Given the description of an element on the screen output the (x, y) to click on. 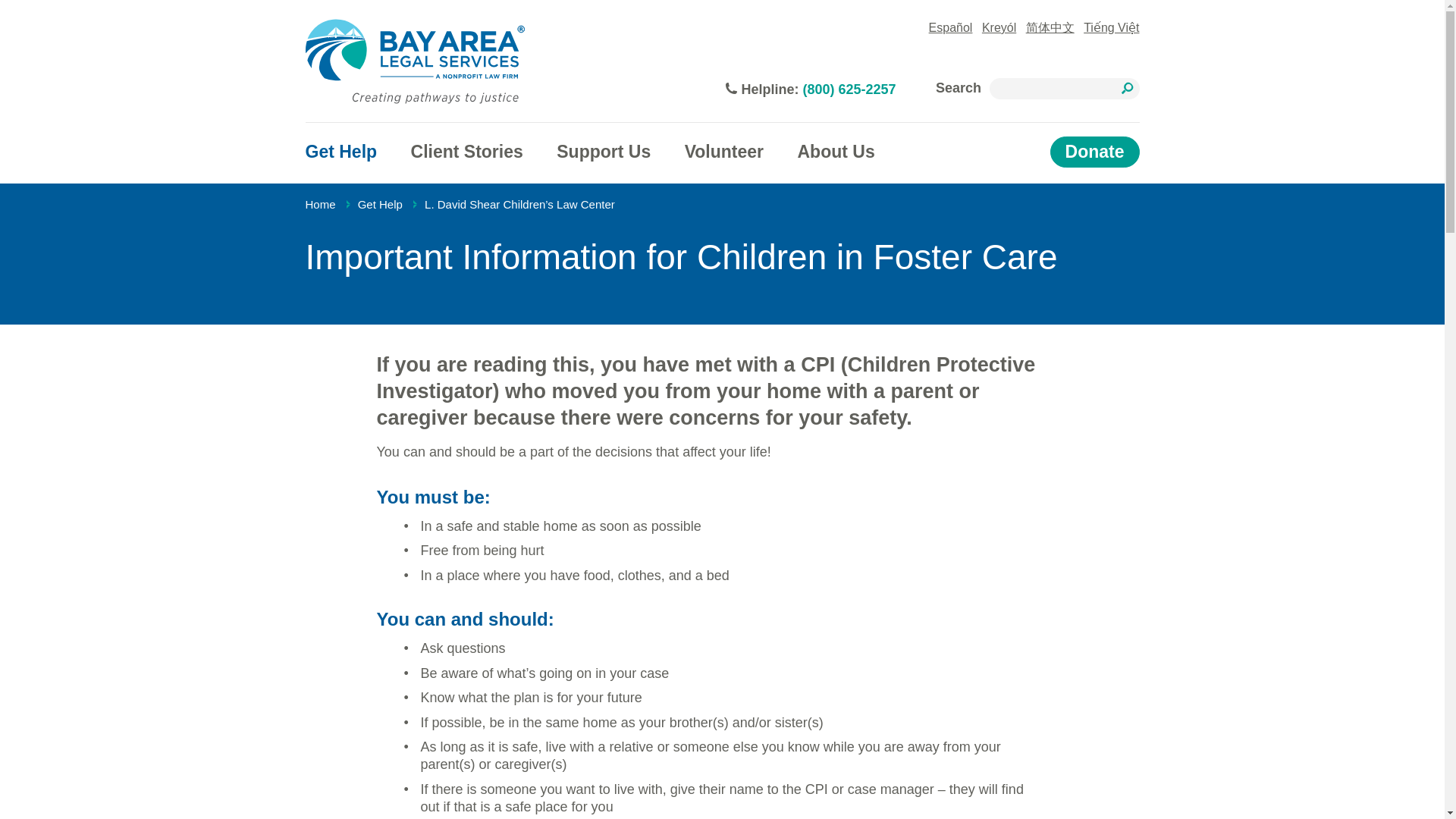
Get Help (380, 203)
Get Help (340, 151)
About Us (835, 151)
Home (414, 61)
Bay Area Legal Services (414, 61)
Client Stories (466, 151)
Donate (1094, 151)
Home (319, 203)
Skip to main content (778, 10)
Support Us (603, 151)
Search (1125, 88)
Enter the terms you wish to search for. (1063, 88)
Volunteer (723, 151)
Search (1125, 88)
